Given the description of an element on the screen output the (x, y) to click on. 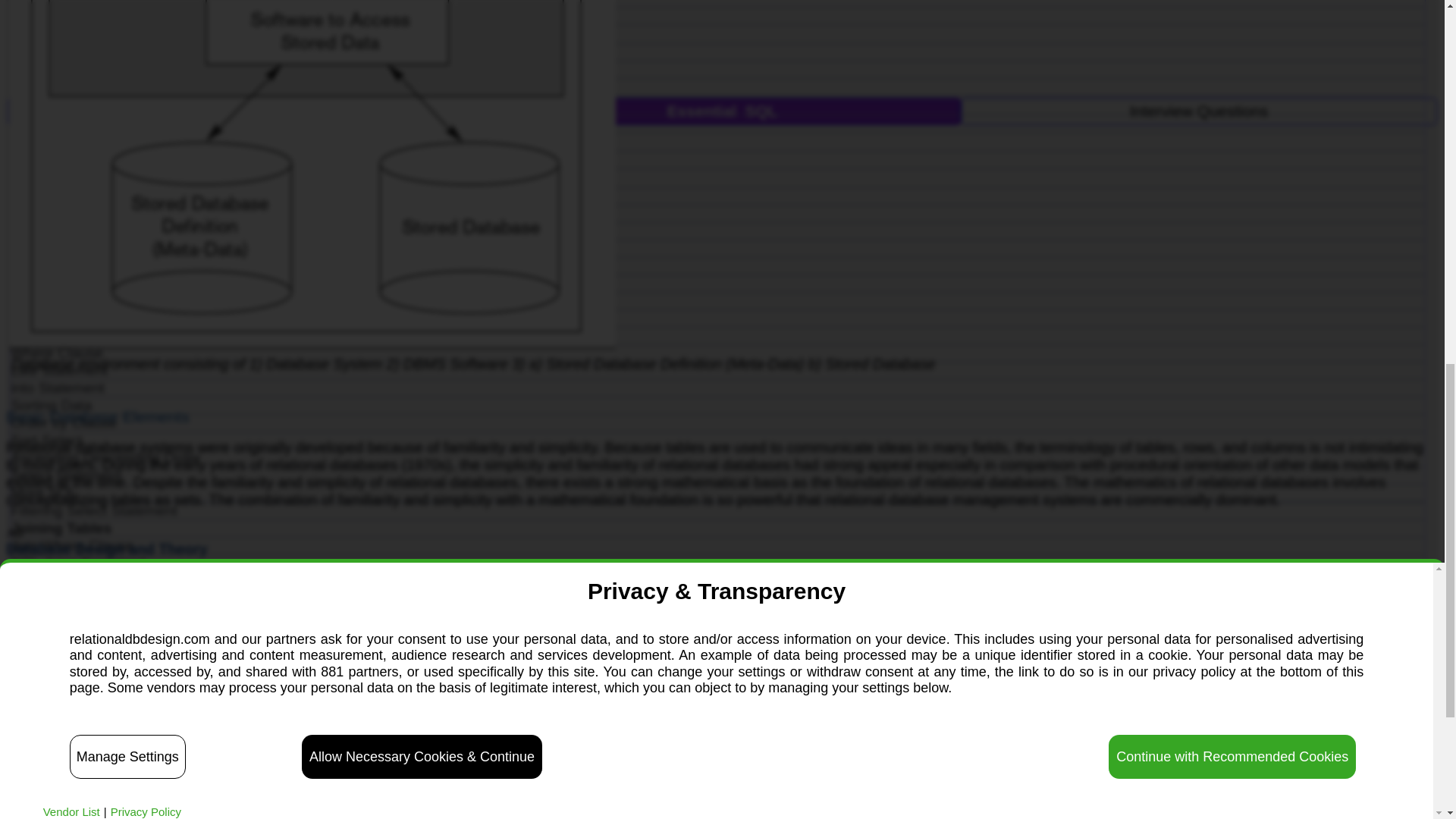
Create Index Column (716, 86)
Table Structure SQL (716, 15)
Create Table (716, 34)
Advanced SQL (245, 111)
Table Index (716, 69)
Databases Column Types (716, 52)
Essential  SQL (721, 111)
